Given the description of an element on the screen output the (x, y) to click on. 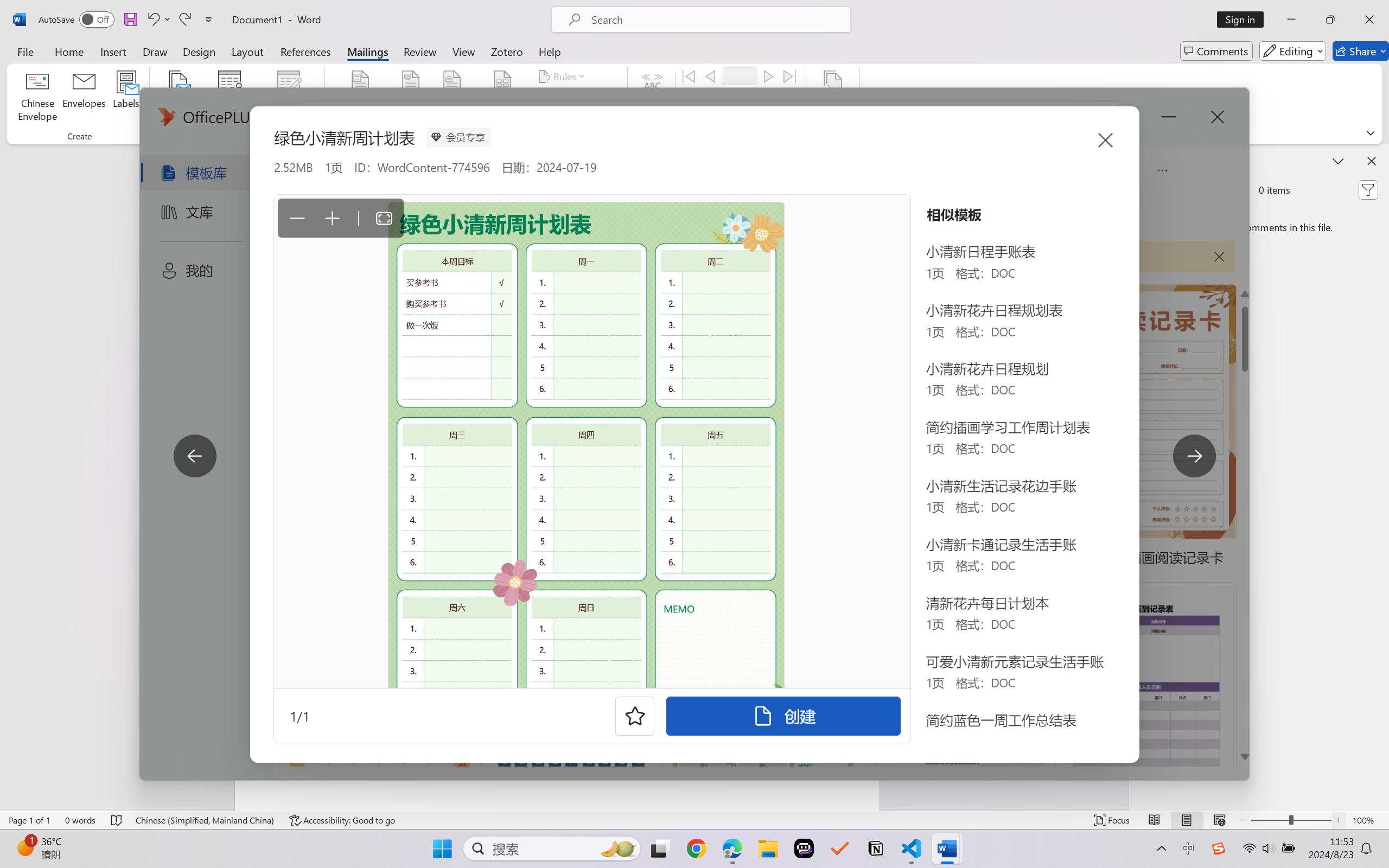
Redo Apply Quick Style (184, 19)
Chinese Envelope... (37, 97)
Undo Apply Quick Style Set (152, 19)
Insert Merge Field (502, 81)
Sign in (1244, 19)
Finish & Merge (832, 97)
Start Mail Merge (177, 97)
